Given the description of an element on the screen output the (x, y) to click on. 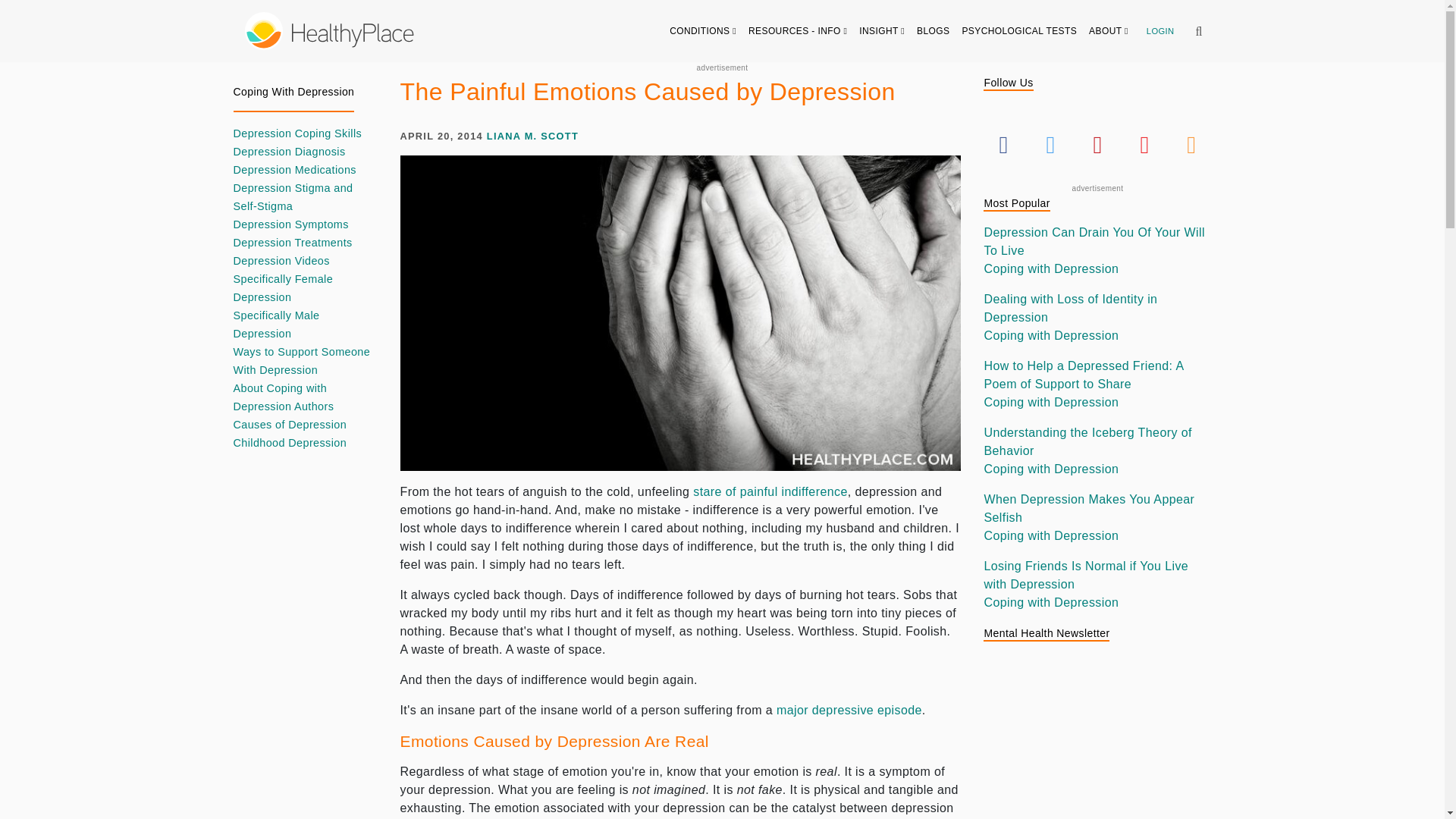
MDD: DSM Criteria for Major Depressive Disorder (848, 709)
Bipolar Depression and Feeling Nothing at All (770, 491)
INSIGHT (882, 31)
RESOURCES - INFO (797, 31)
CONDITIONS (702, 31)
